Given the description of an element on the screen output the (x, y) to click on. 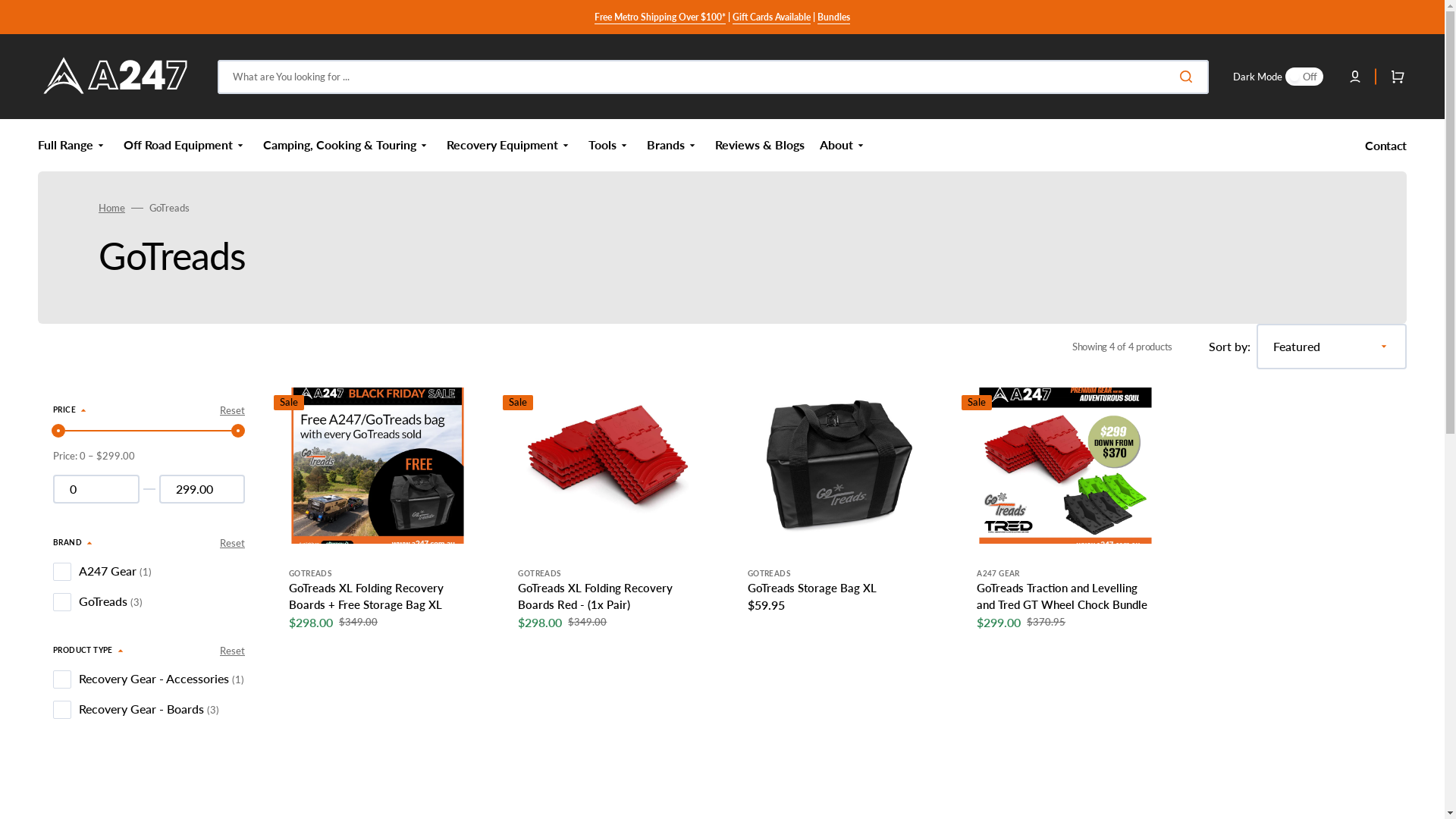
Reset Element type: text (231, 650)
Reset Element type: text (231, 410)
Dark Mode
Off Element type: text (1277, 76)
GoTreads XL Folding Recovery Boards Red - (1x Pair) Element type: text (606, 596)
Free Metro Shipping Over $100* Element type: text (659, 16)
Bundles Element type: text (833, 16)
Reviews & Blogs Element type: text (759, 145)
Reset Element type: text (231, 542)
Home Element type: text (111, 207)
Contact Element type: text (1385, 145)
GoTreads Storage Bag XL Element type: text (811, 587)
Gift Cards Available Element type: text (771, 16)
Cart Element type: text (1394, 76)
GoTreads XL Folding Recovery Boards + Free Storage Bag XL Element type: text (377, 596)
